Given the description of an element on the screen output the (x, y) to click on. 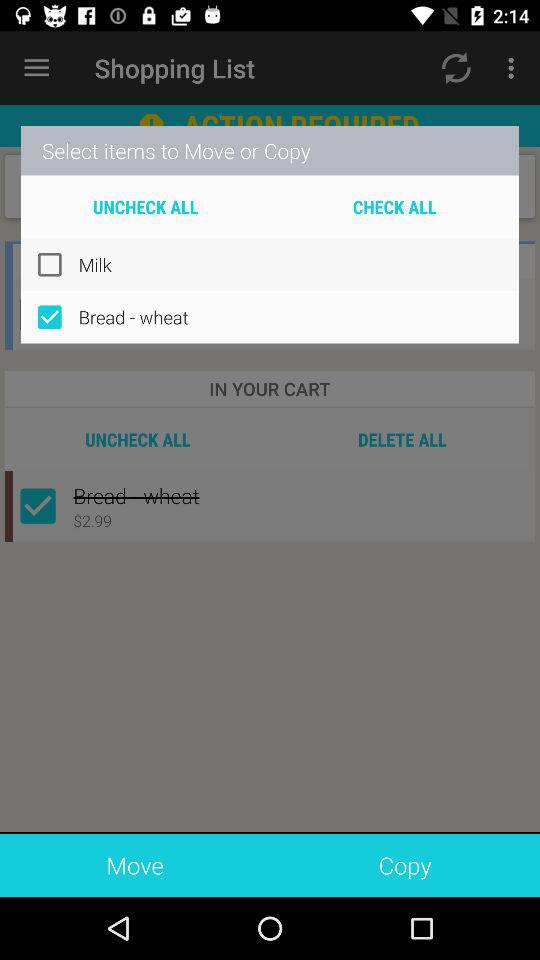
select icon to the right of uncheck all (394, 206)
